Given the description of an element on the screen output the (x, y) to click on. 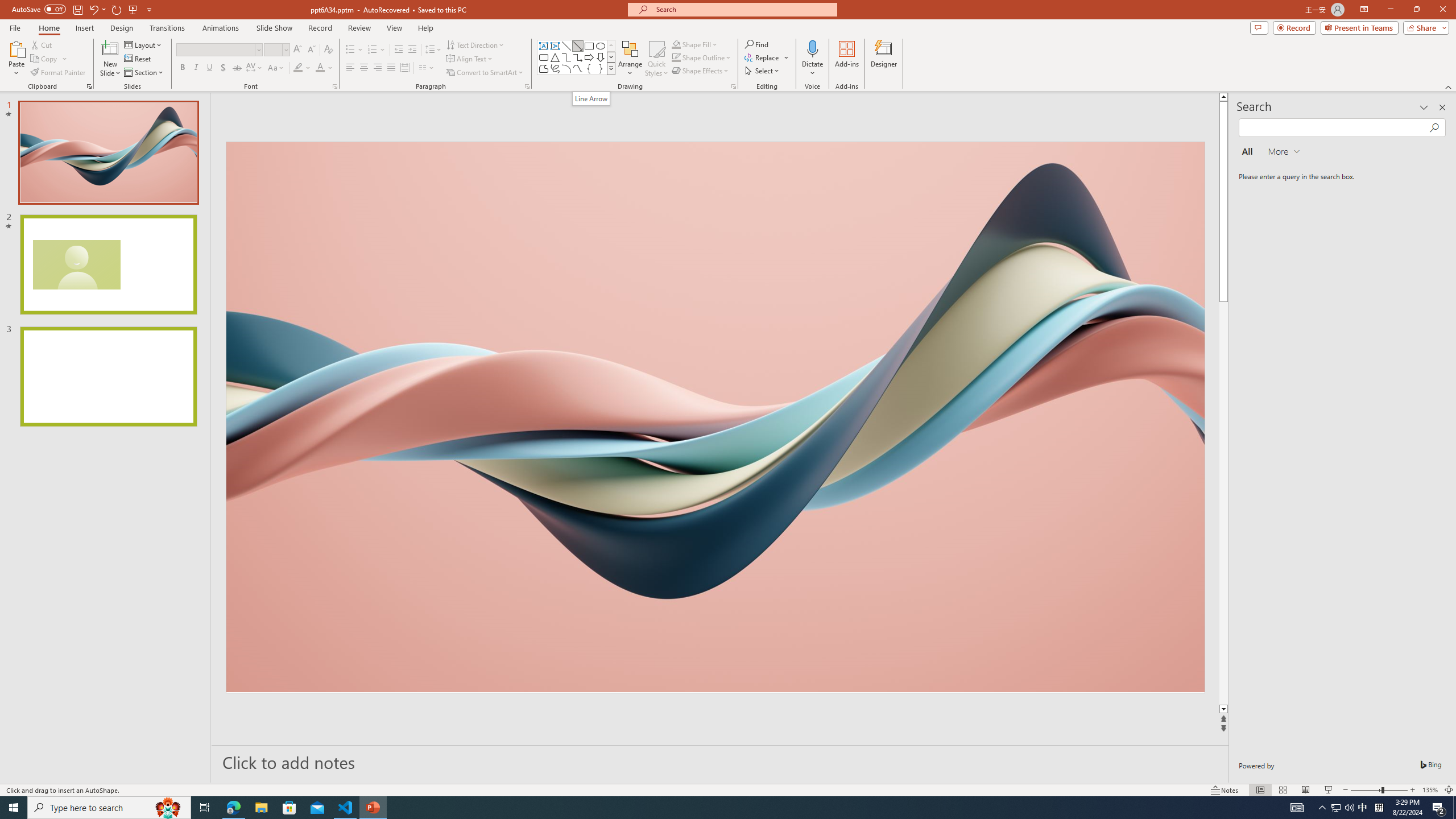
Left Brace (589, 68)
Row up (611, 45)
Paragraph... (526, 85)
Text Box (543, 45)
Clear Formatting (327, 49)
Numbering (376, 49)
Zoom 135% (1430, 790)
Shape Fill (694, 44)
Slide Notes (720, 761)
Vertical Text Box (554, 45)
Justify (390, 67)
